Given the description of an element on the screen output the (x, y) to click on. 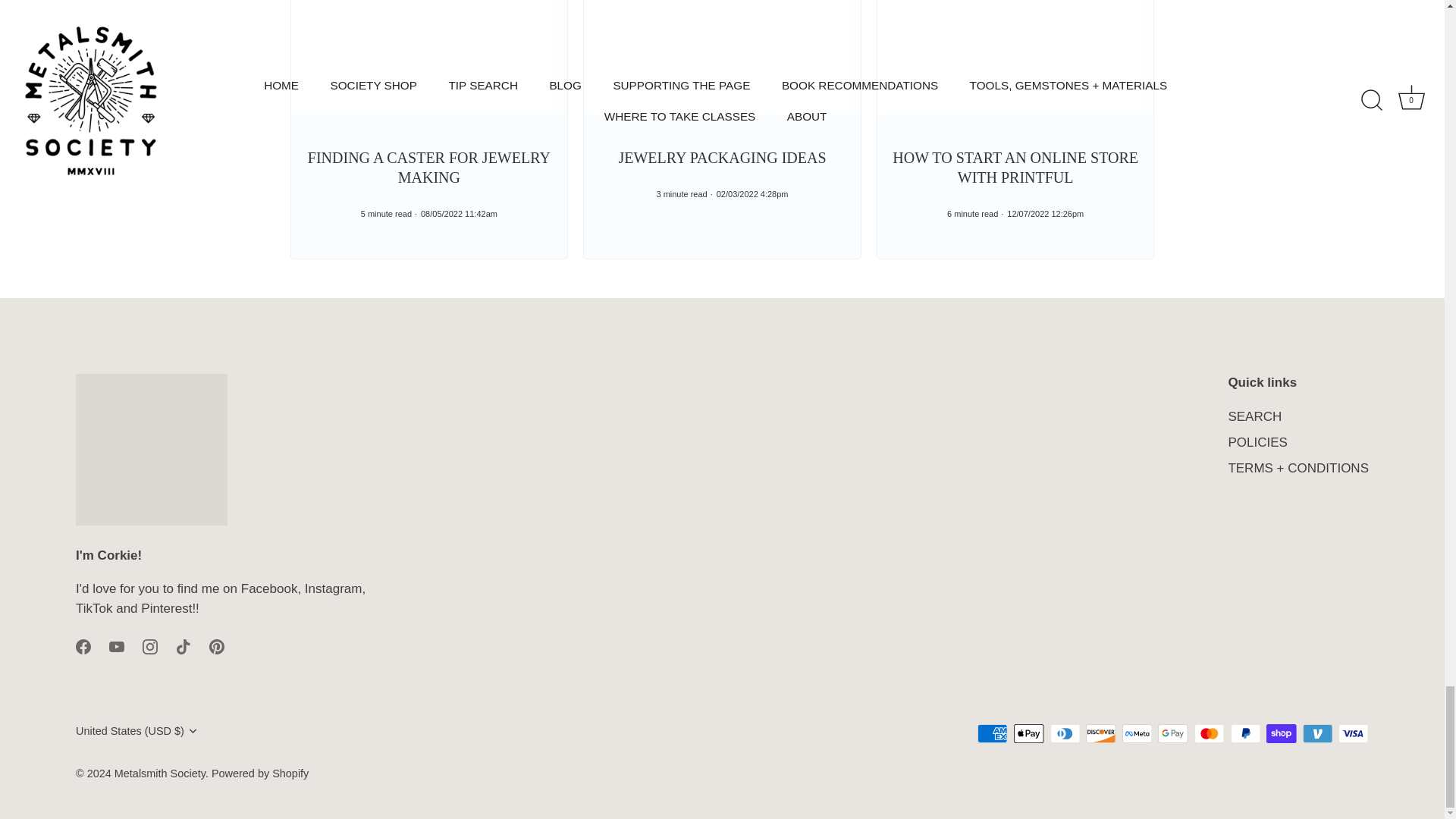
PayPal (1245, 732)
Shop Pay (1280, 732)
Discover (1100, 732)
Meta Pay (1136, 732)
Youtube (116, 646)
Apple Pay (1028, 732)
Google Pay (1172, 732)
Diners Club (1064, 732)
American Express (991, 732)
Pinterest (216, 646)
